Given the description of an element on the screen output the (x, y) to click on. 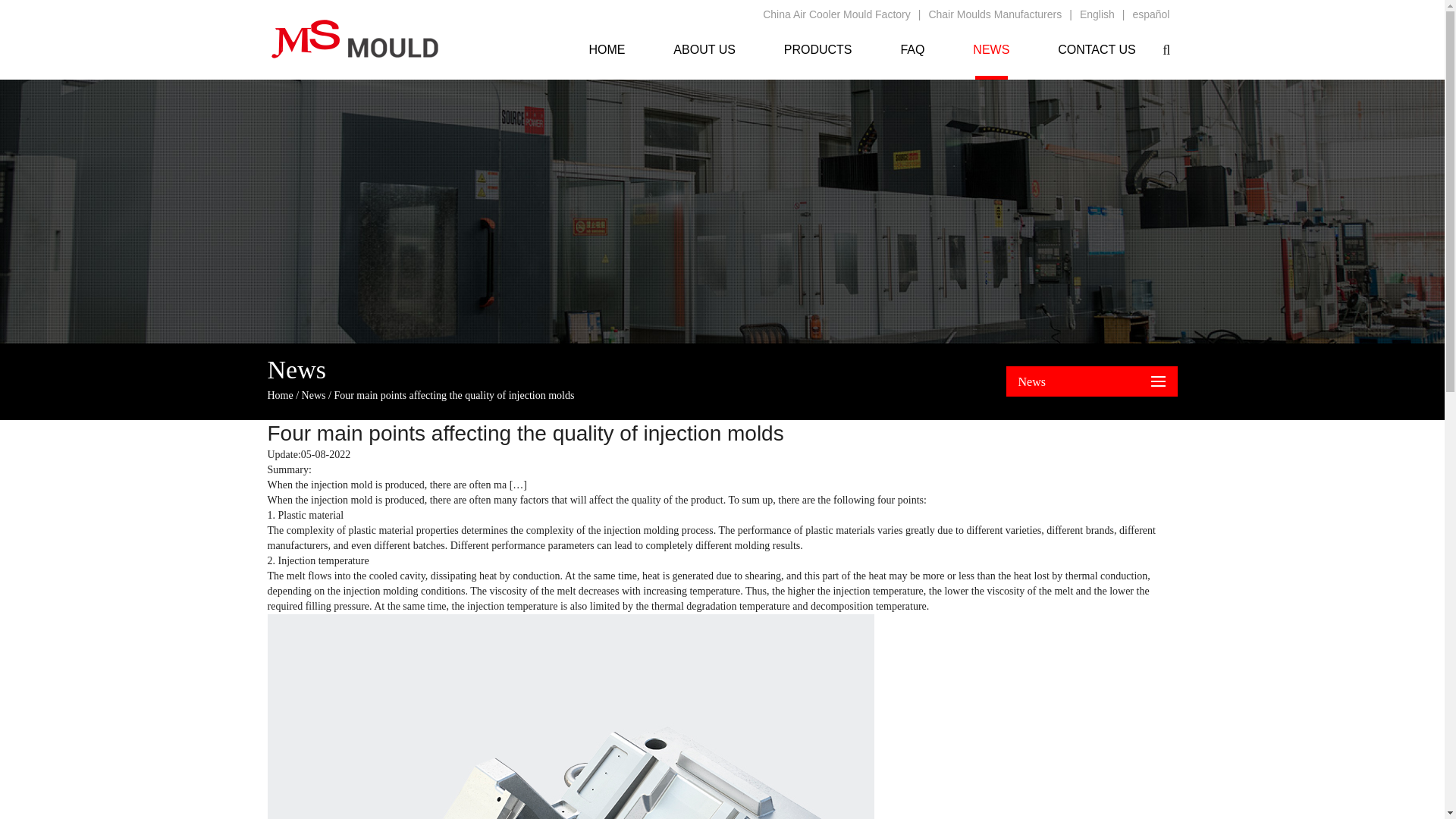
English (1097, 14)
PRODUCTS (817, 49)
News (313, 395)
China Air Cooler Mould Factory (836, 14)
Chair Moulds Manufacturers (994, 14)
ABOUT US (703, 49)
Home (279, 395)
CONTACT US (1096, 49)
